Given the description of an element on the screen output the (x, y) to click on. 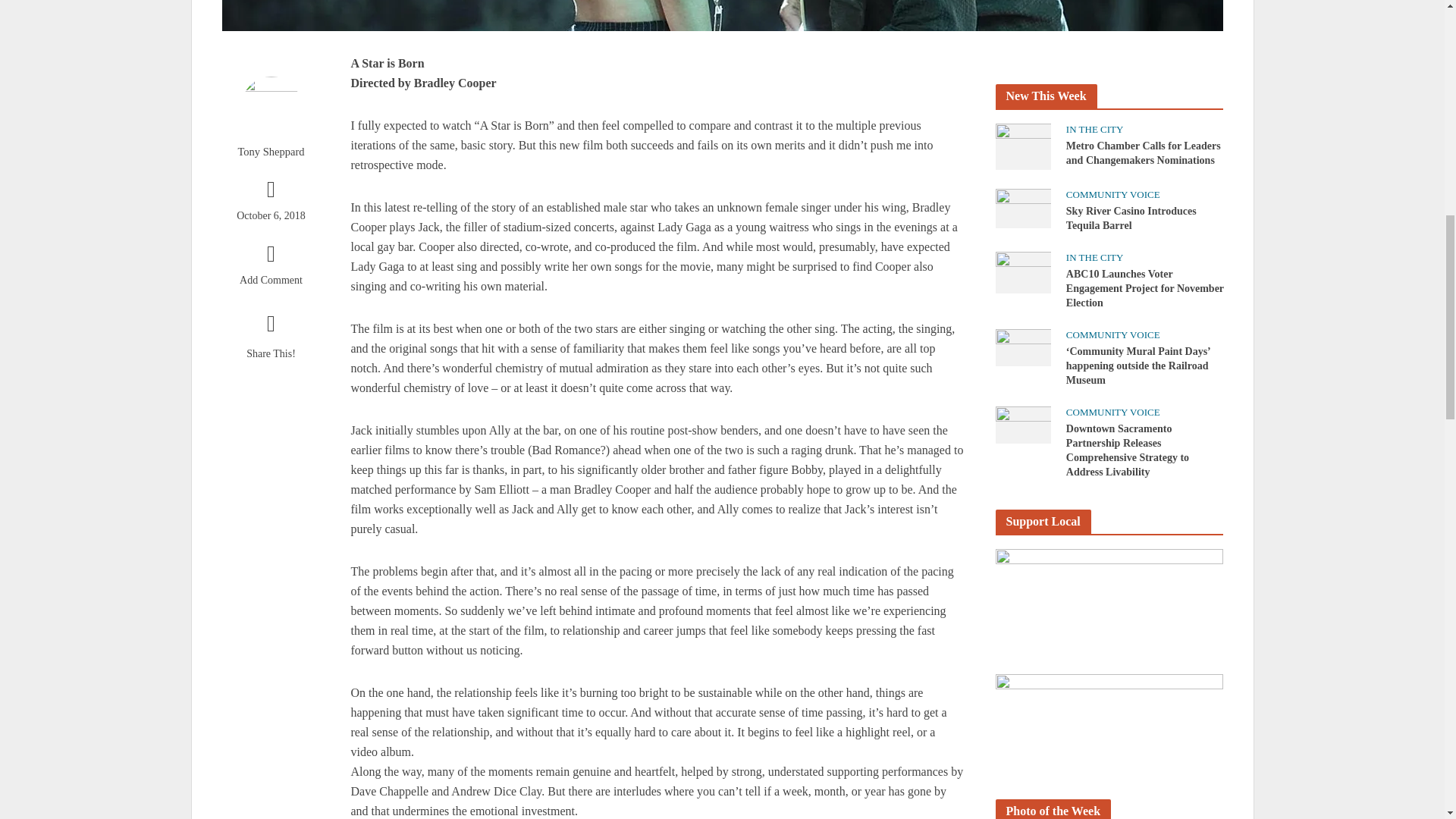
Sky River Casino Introduces Tequila Barrel (1021, 206)
Metro Chamber Calls for Leaders and Changemakers Nominations (1021, 145)
